Given the description of an element on the screen output the (x, y) to click on. 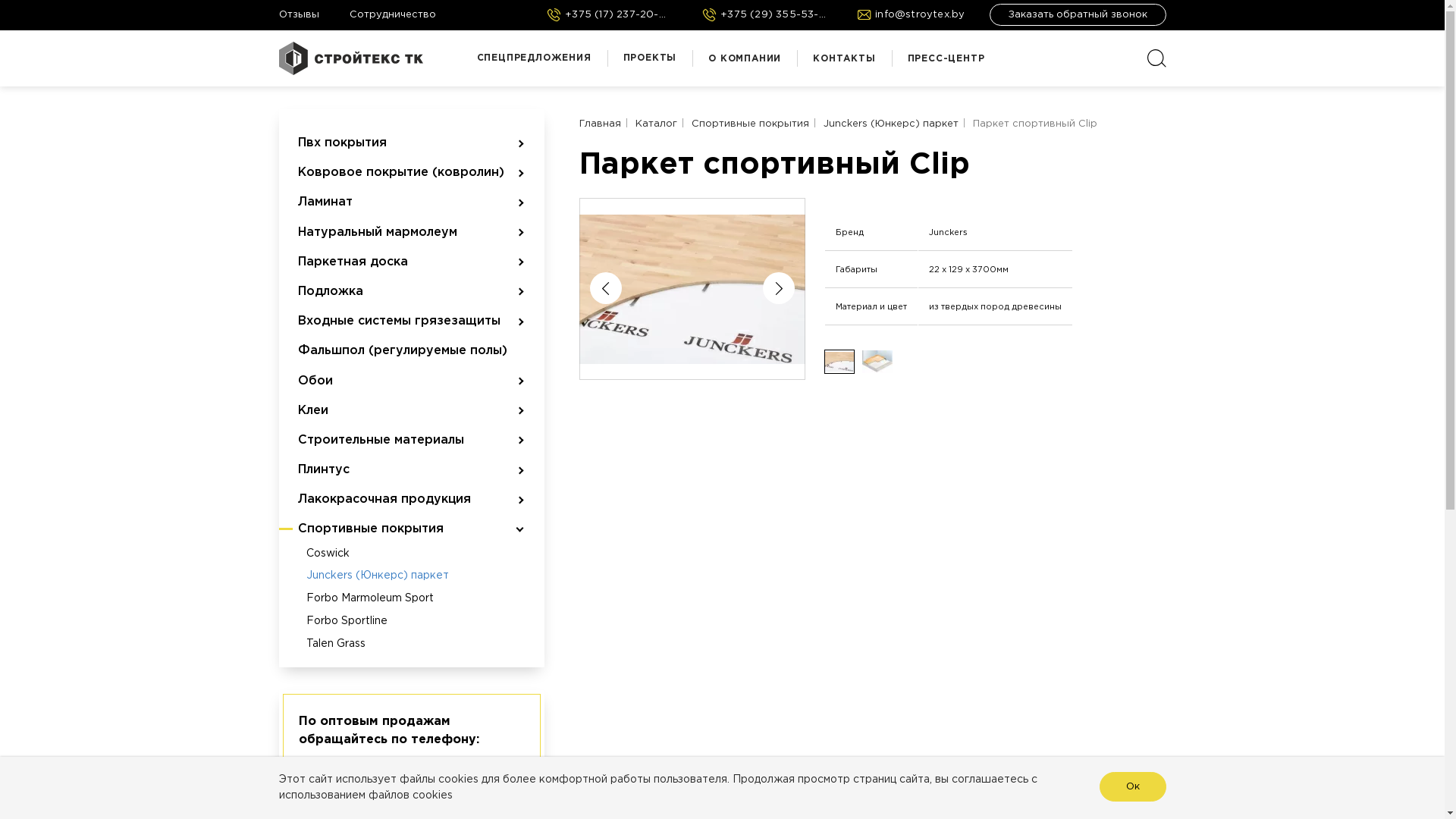
Coswick Element type: text (412, 553)
Talen Grass Element type: text (412, 643)
+375 (17) 237-20-70 Element type: text (357, 763)
Forbo Marmoleum Sport Element type: text (412, 598)
+375 (17) 237-20-80 Element type: text (608, 14)
Forbo Sportline Element type: text (412, 620)
+375 (29) 355-53-90 Element type: text (764, 14)
info@stroytex.by Element type: text (910, 14)
